Given the description of an element on the screen output the (x, y) to click on. 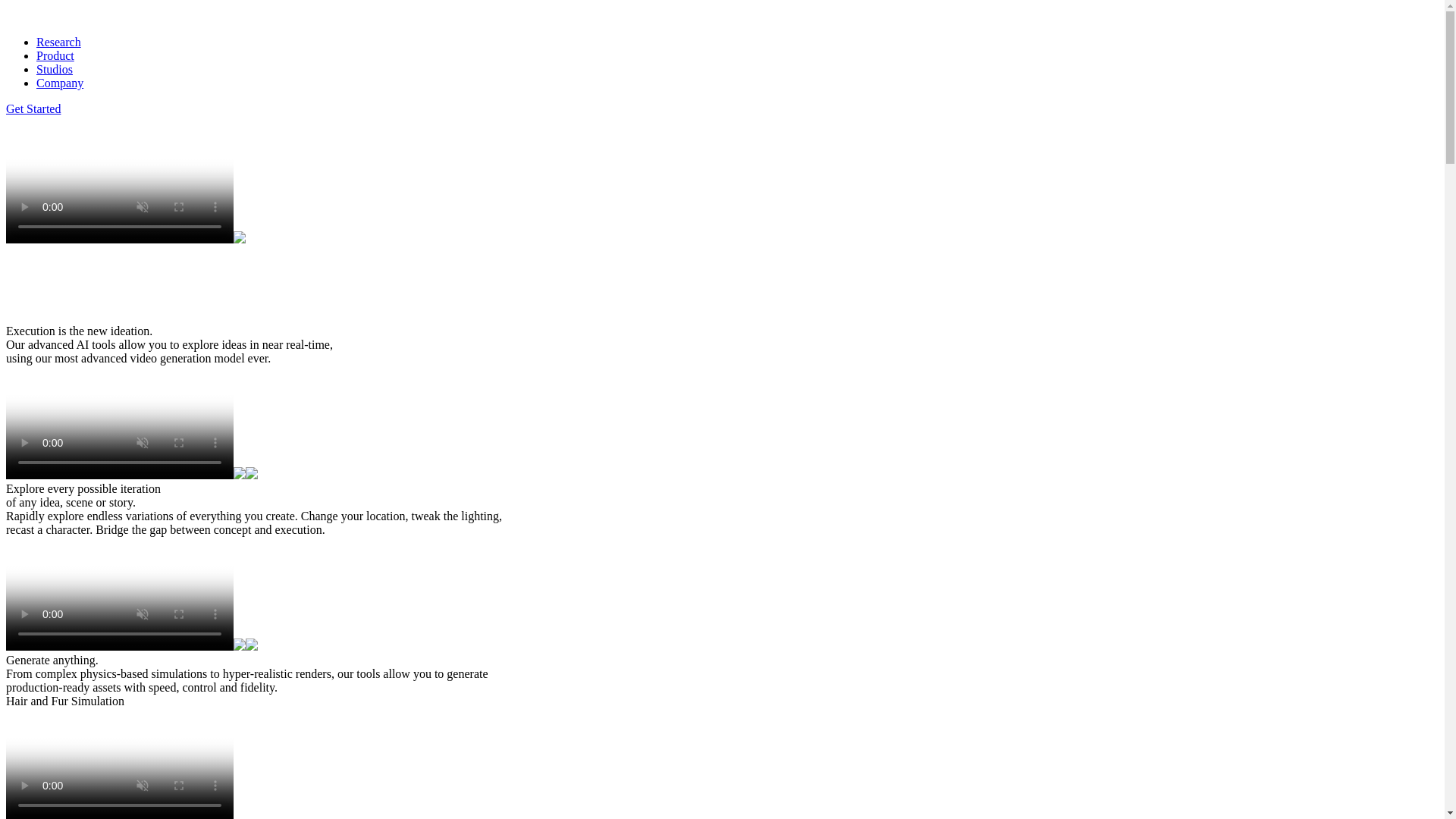
Studios (54, 69)
Company (59, 82)
Product (55, 55)
Research (58, 42)
Get Started (33, 108)
